Given the description of an element on the screen output the (x, y) to click on. 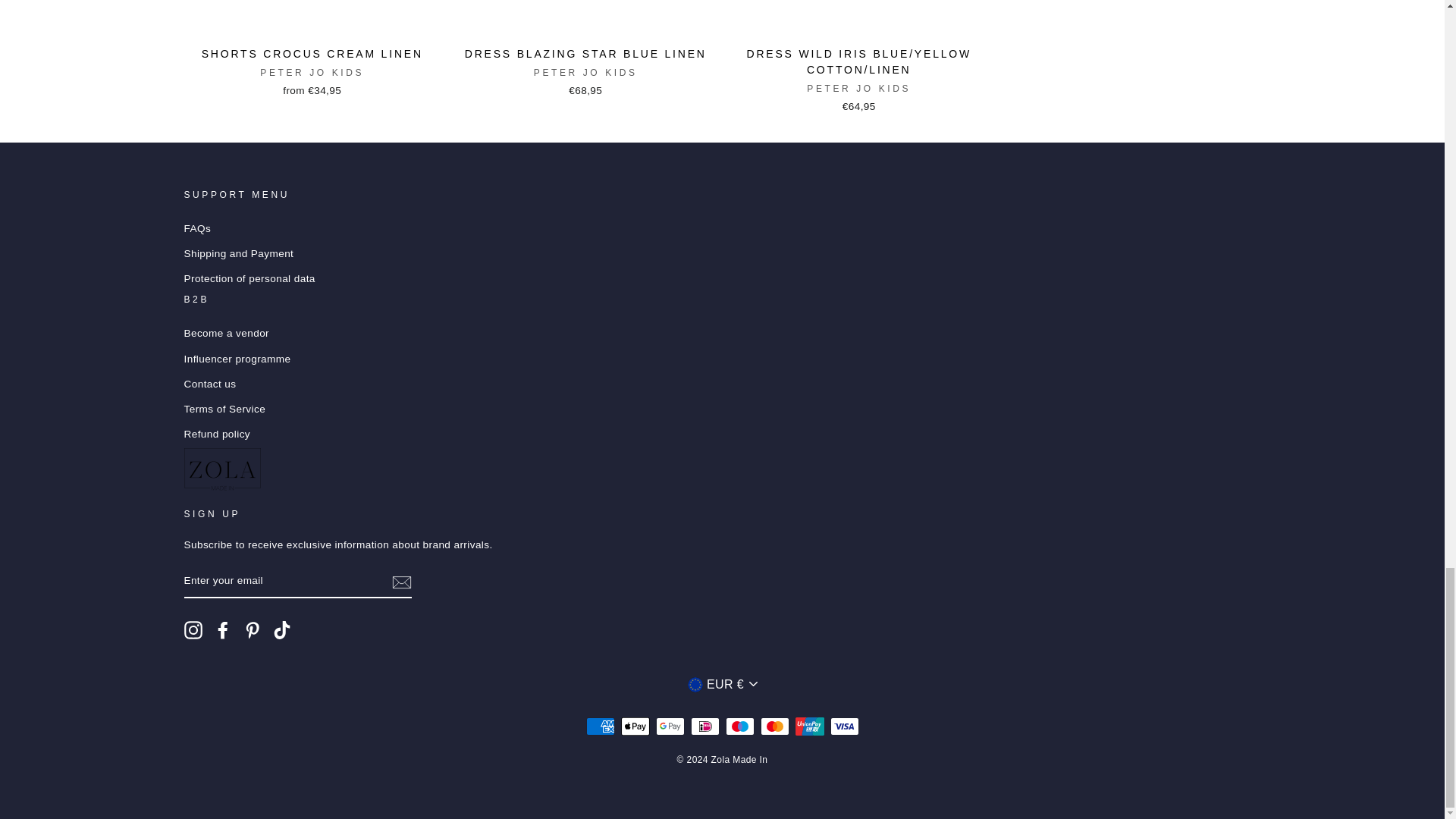
Zola Made In on TikTok (282, 629)
Maestro (739, 726)
Union Pay (809, 726)
American Express (599, 726)
Zola Made In on Facebook (222, 629)
Zola Made In on Pinterest (251, 629)
Google Pay (669, 726)
Mastercard (774, 726)
iDEAL (704, 726)
Zola Made In on Instagram (192, 629)
